Given the description of an element on the screen output the (x, y) to click on. 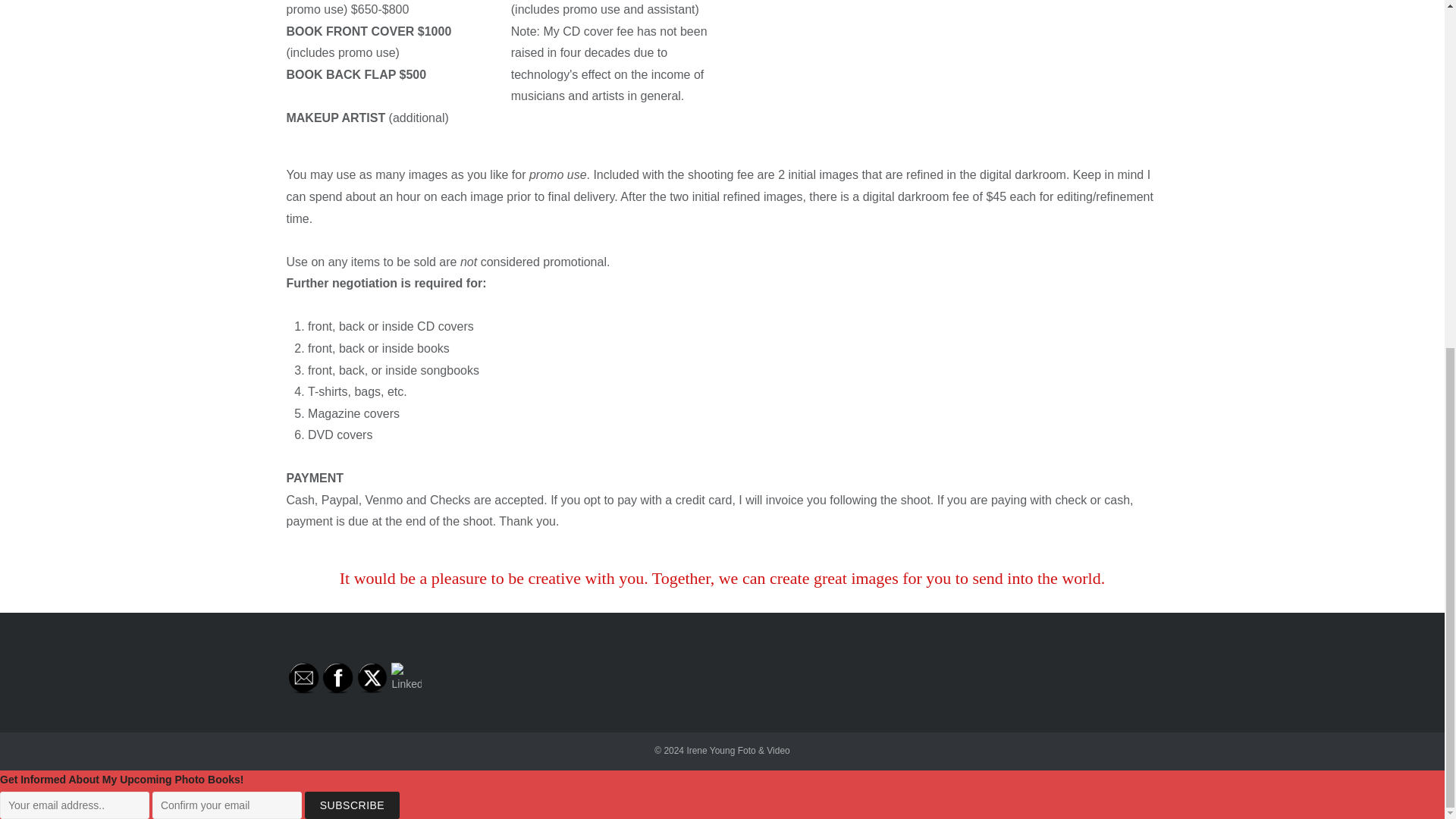
Twitter (371, 677)
Follow by Email (303, 677)
Facebook (338, 677)
LinkedIn (406, 677)
